Given the description of an element on the screen output the (x, y) to click on. 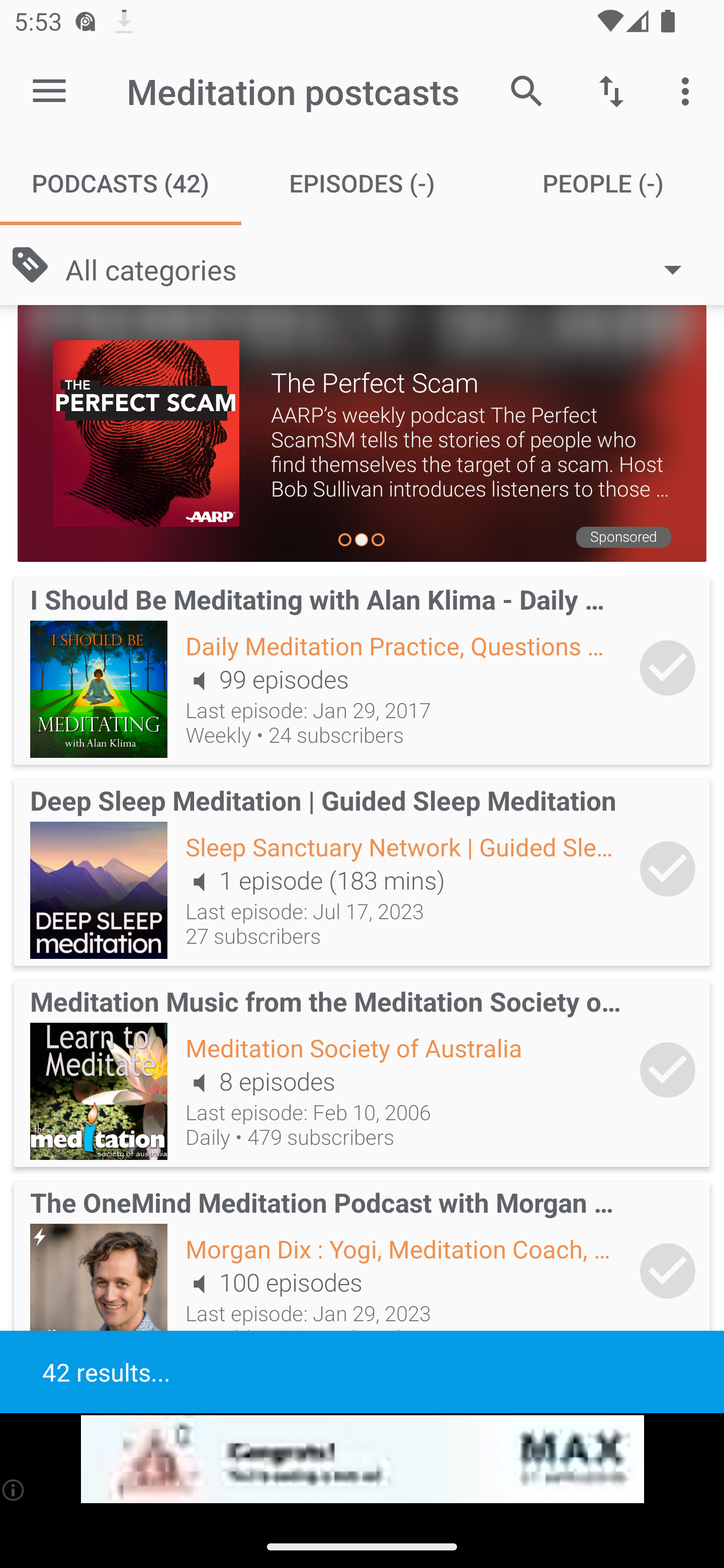
Open navigation sidebar (49, 91)
Search (526, 90)
Sort (611, 90)
More options (688, 90)
Episodes (-) EPISODES (-) (361, 183)
People (-) PEOPLE (-) (603, 183)
All categories (383, 268)
Add (667, 667)
Add (667, 868)
Add (667, 1069)
Add (667, 1271)
app-monetization (362, 1459)
(i) (14, 1489)
